Given the description of an element on the screen output the (x, y) to click on. 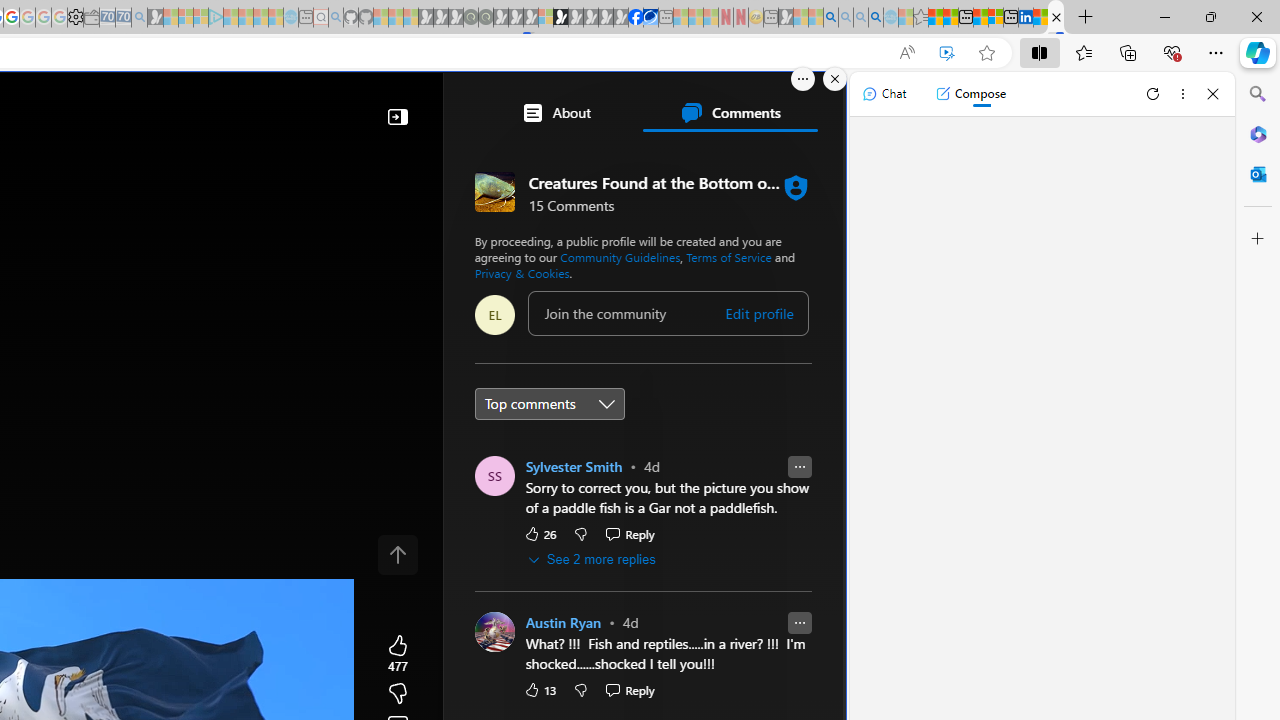
Community Guidelines (620, 255)
Future Focus Report 2024 - Sleeping (485, 17)
Chat (884, 93)
Privacy & Cookies (521, 272)
LinkedIn (1025, 17)
Watch (72, 162)
